Given the description of an element on the screen output the (x, y) to click on. 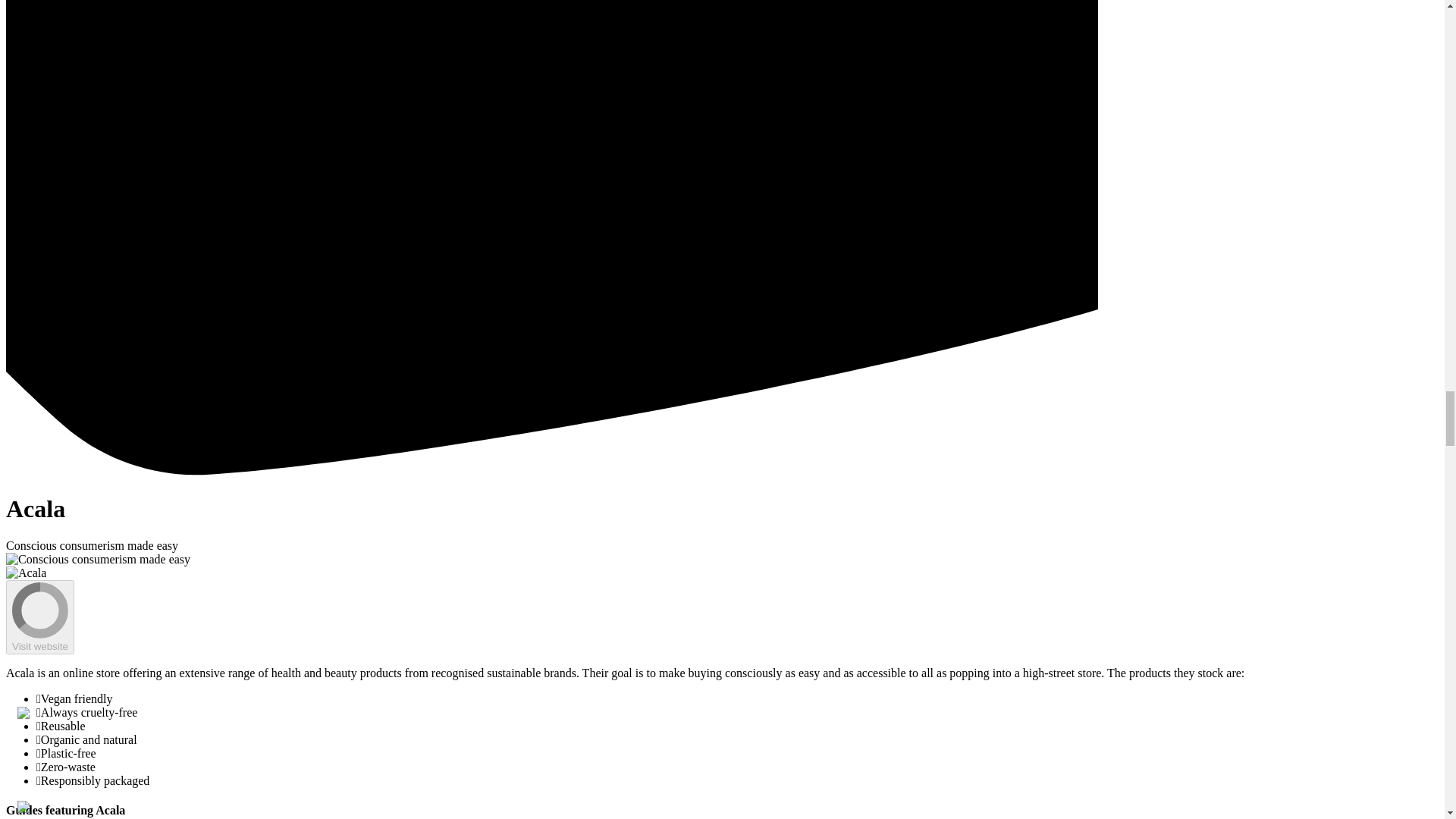
Visit website (39, 616)
Visit website (39, 645)
